Given the description of an element on the screen output the (x, y) to click on. 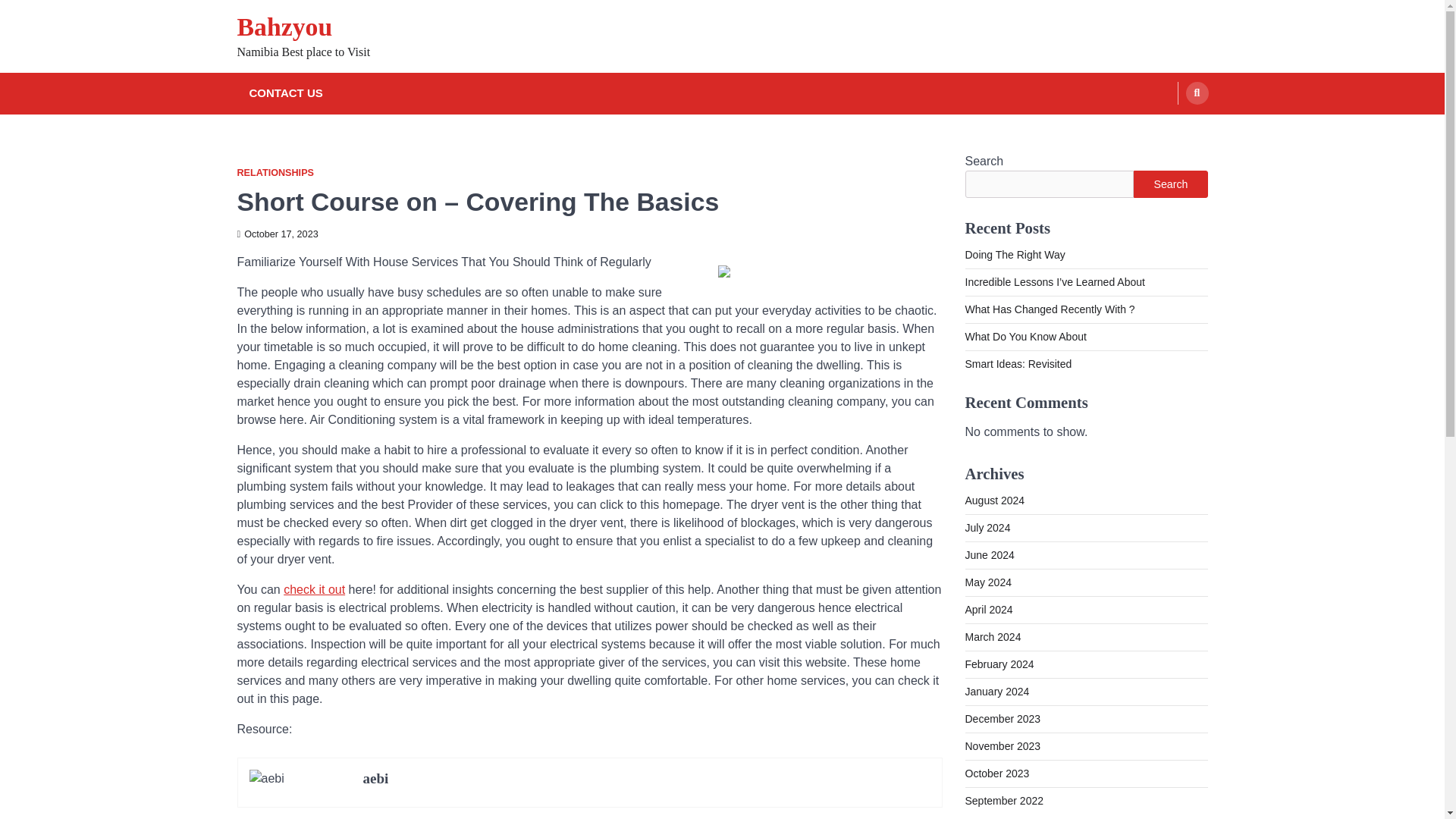
January 2024 (996, 691)
May 2024 (986, 582)
August 2024 (994, 500)
Doing The Right Way (1013, 254)
June 2024 (988, 554)
CONTACT US (286, 93)
April 2024 (987, 609)
July 2024 (986, 527)
check it out (314, 589)
What Has Changed Recently With ? (1048, 309)
